Given the description of an element on the screen output the (x, y) to click on. 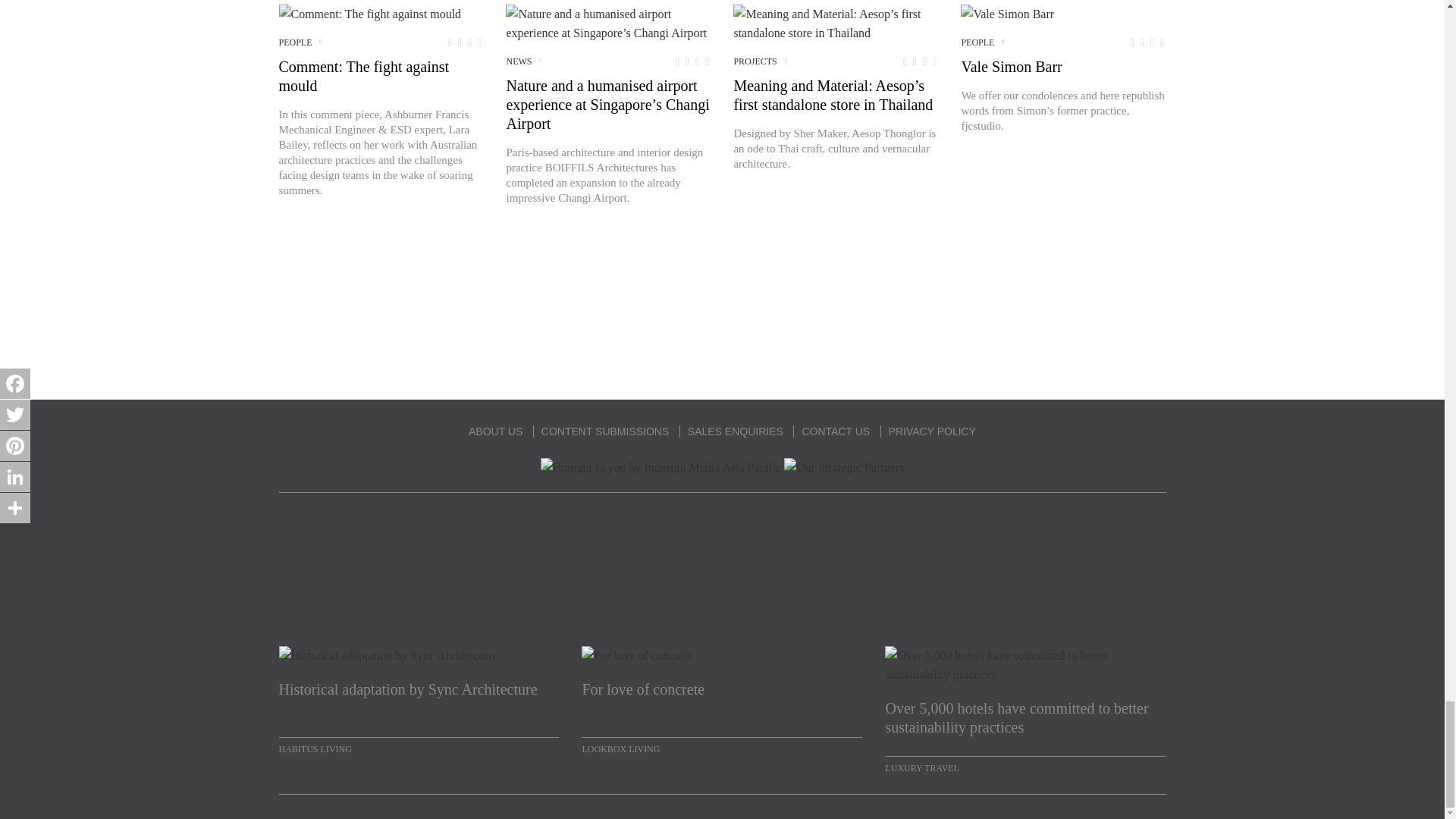
Brought to you by Indesign Media Asia Pacific (660, 466)
Comment: The fight against mould (370, 13)
Our Strategic Partners (844, 466)
Vale Simon Barr (1007, 13)
